Given the description of an element on the screen output the (x, y) to click on. 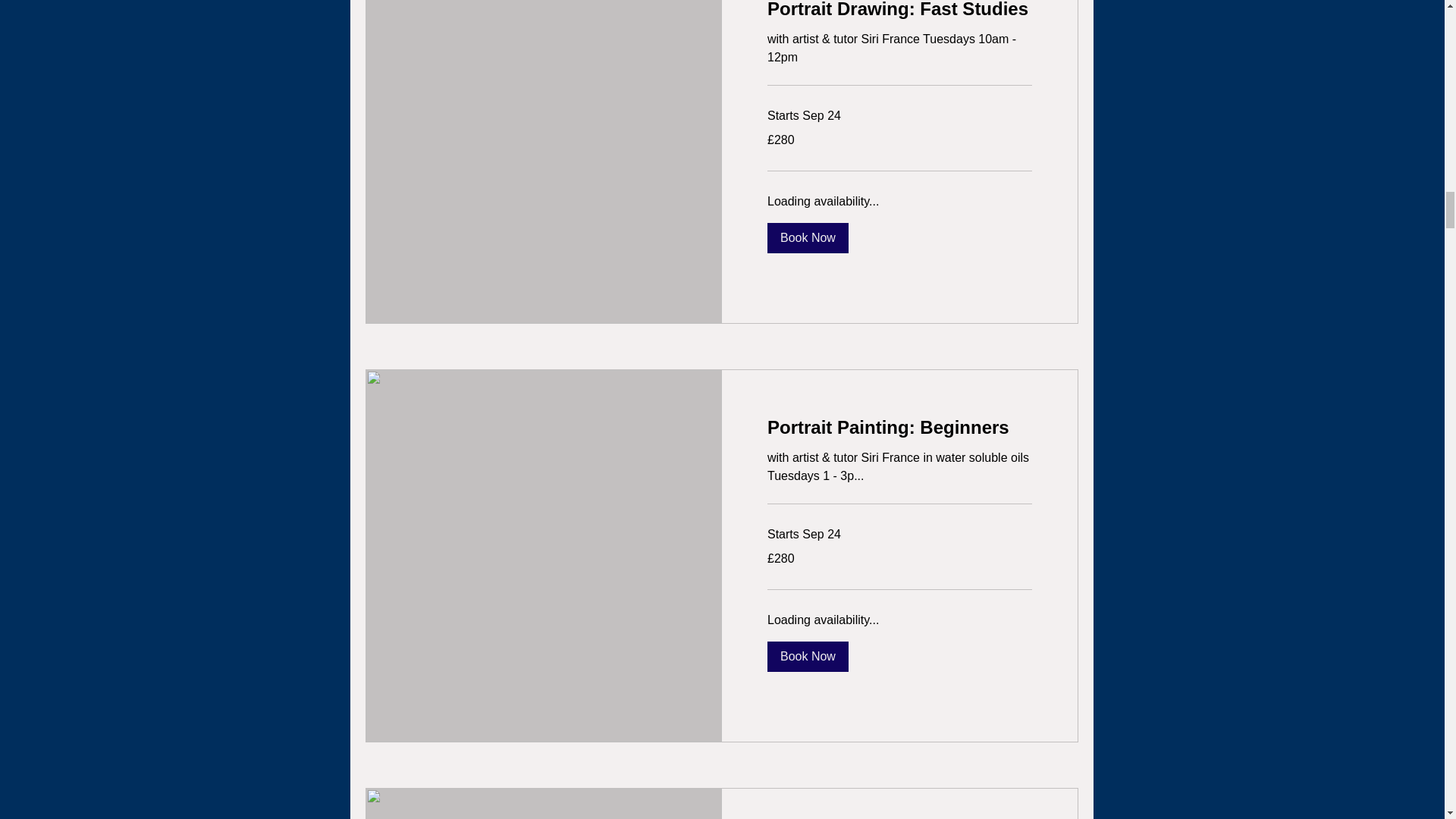
Book Now (807, 237)
Portrait Painting: Beginners (899, 427)
Book Now (807, 656)
Portrait Drawing: Fast Studies (899, 10)
